Given the description of an element on the screen output the (x, y) to click on. 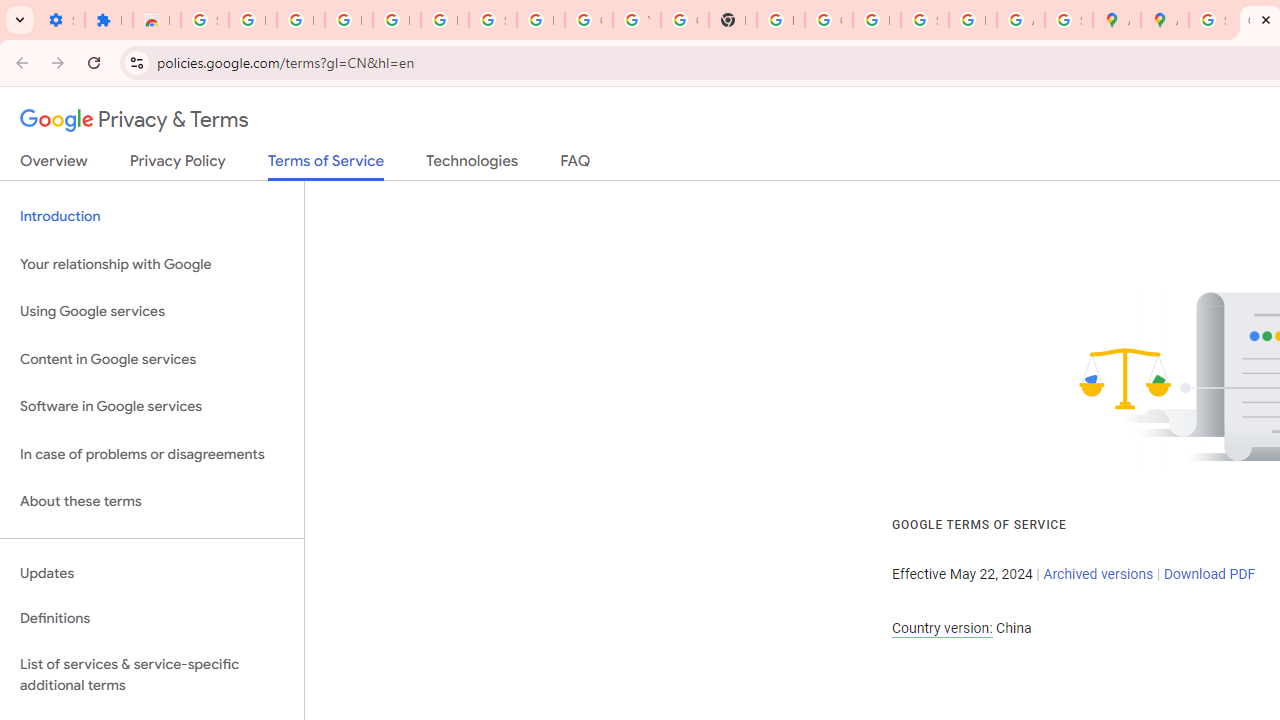
Sign in - Google Accounts (924, 20)
Software in Google services (152, 407)
Safety in Our Products - Google Safety Center (1068, 20)
Sign in - Google Accounts (492, 20)
Delete photos & videos - Computer - Google Photos Help (348, 20)
New Tab (732, 20)
Introduction (152, 216)
Using Google services (152, 312)
